Given the description of an element on the screen output the (x, y) to click on. 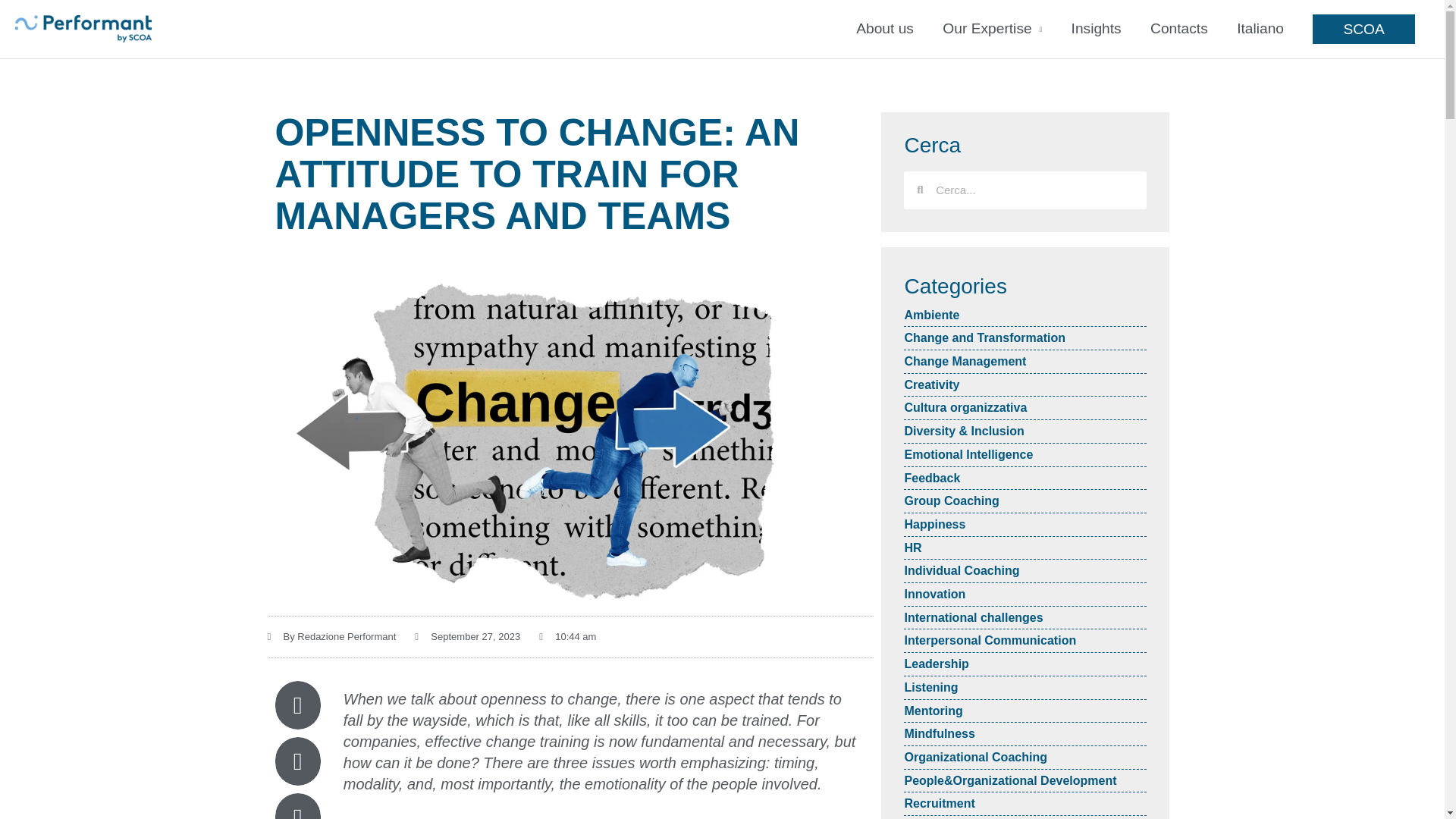
Italiano (1260, 29)
Italiano (1260, 29)
About us (884, 29)
Insights (1096, 29)
SCOA (1363, 29)
Contacts (1179, 29)
Our Expertise (992, 29)
